Given the description of an element on the screen output the (x, y) to click on. 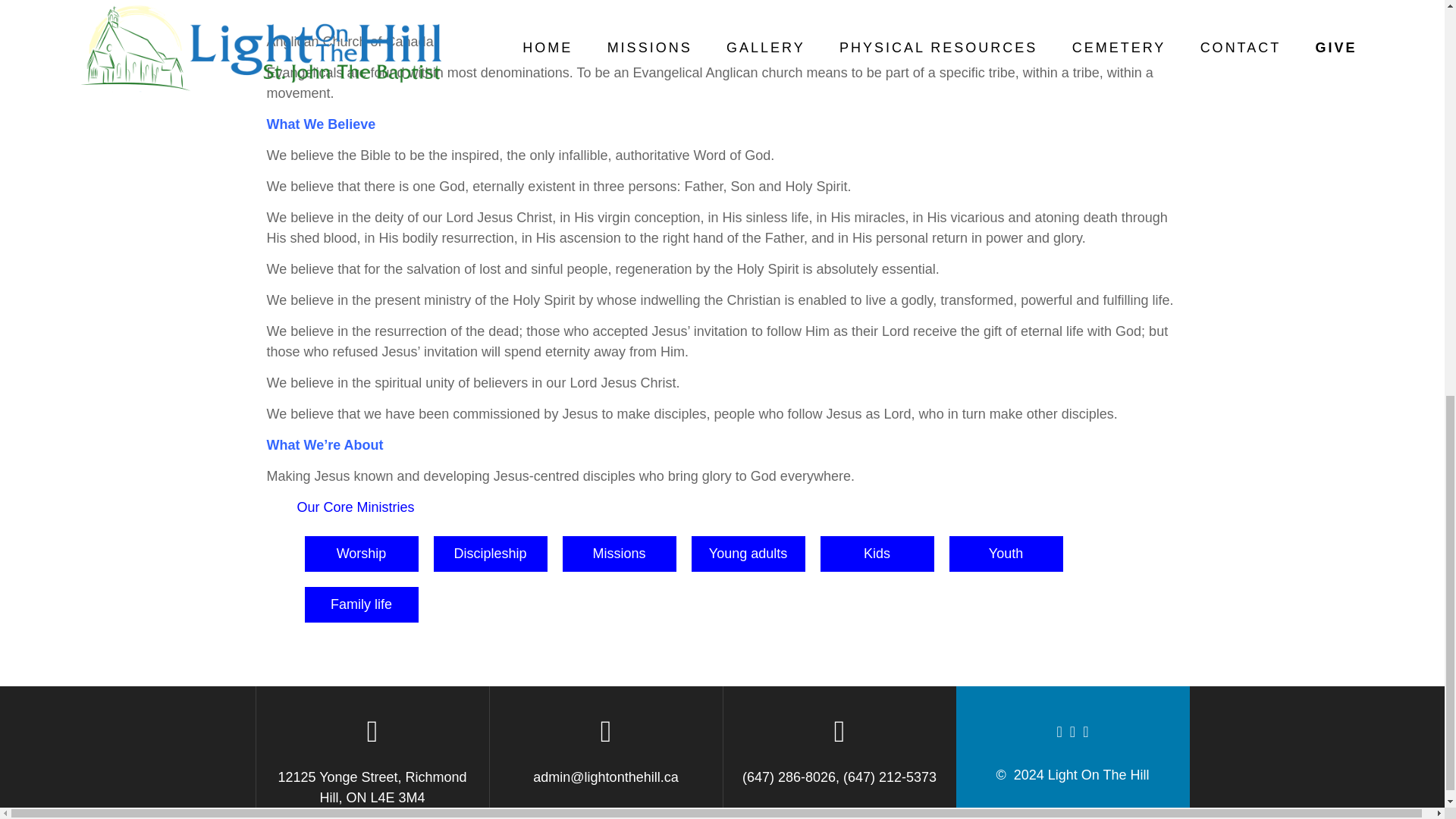
Worship (361, 553)
Discipleship (490, 553)
Missions (619, 553)
Youth (1005, 553)
Young adults (748, 553)
Kids (877, 553)
Family life (361, 604)
